Given the description of an element on the screen output the (x, y) to click on. 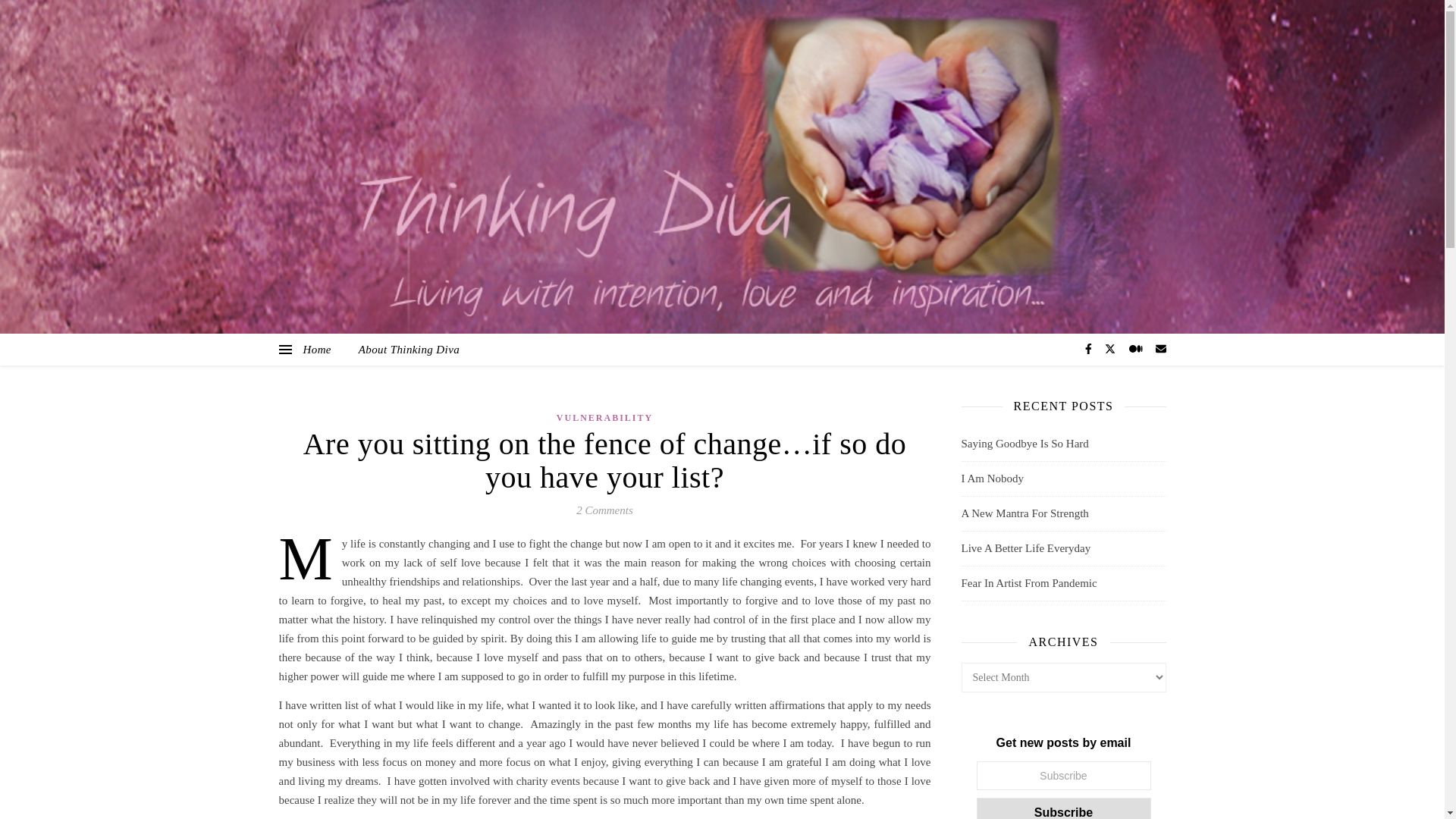
Home (322, 349)
Subscribe (1063, 808)
About Thinking Diva (403, 349)
